Given the description of an element on the screen output the (x, y) to click on. 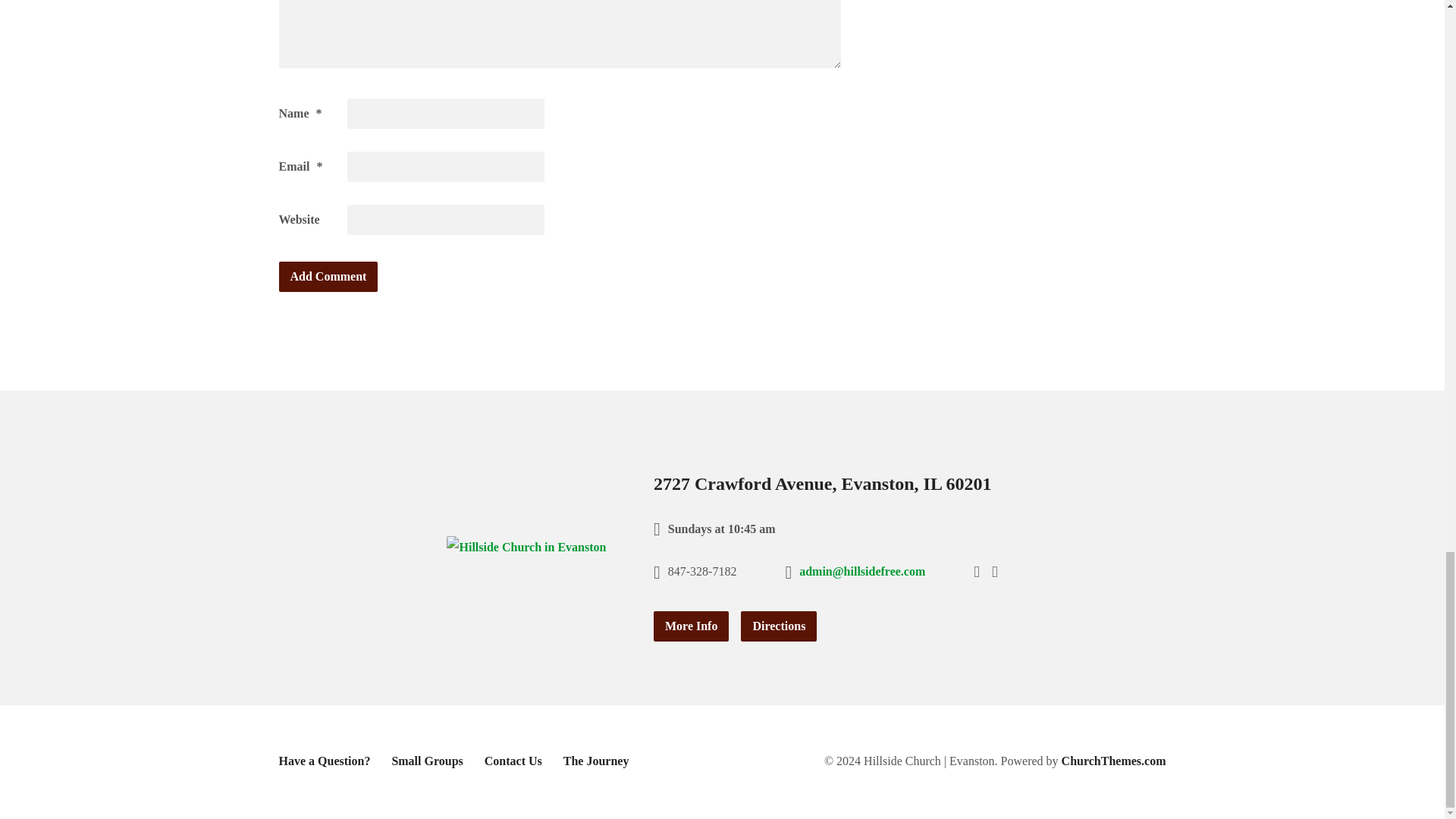
Add Comment (328, 276)
Add Comment (328, 276)
